Given the description of an element on the screen output the (x, y) to click on. 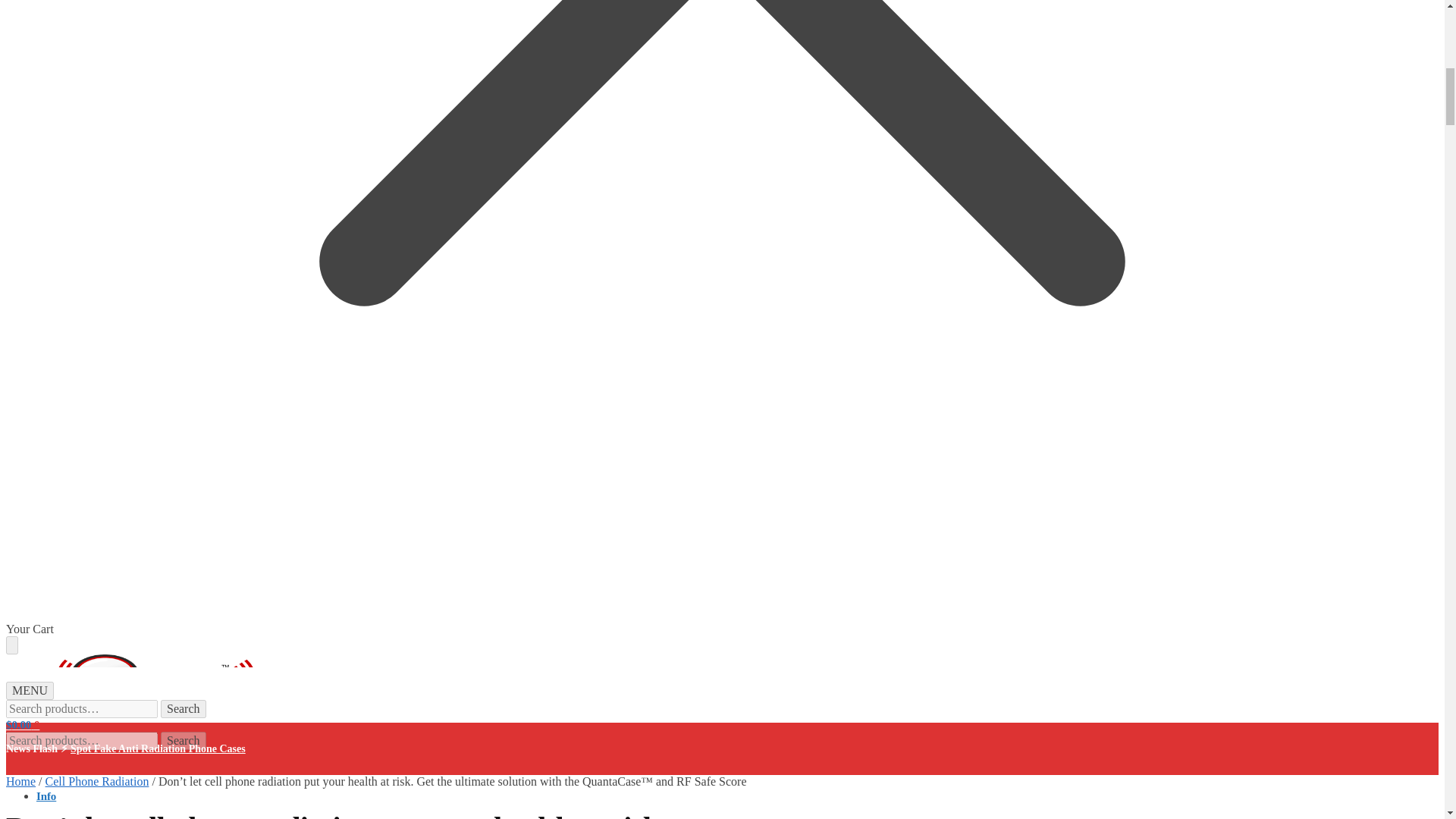
Search (183, 741)
Search (183, 709)
View your shopping cart (22, 725)
MENU (29, 690)
Info (46, 796)
